Given the description of an element on the screen output the (x, y) to click on. 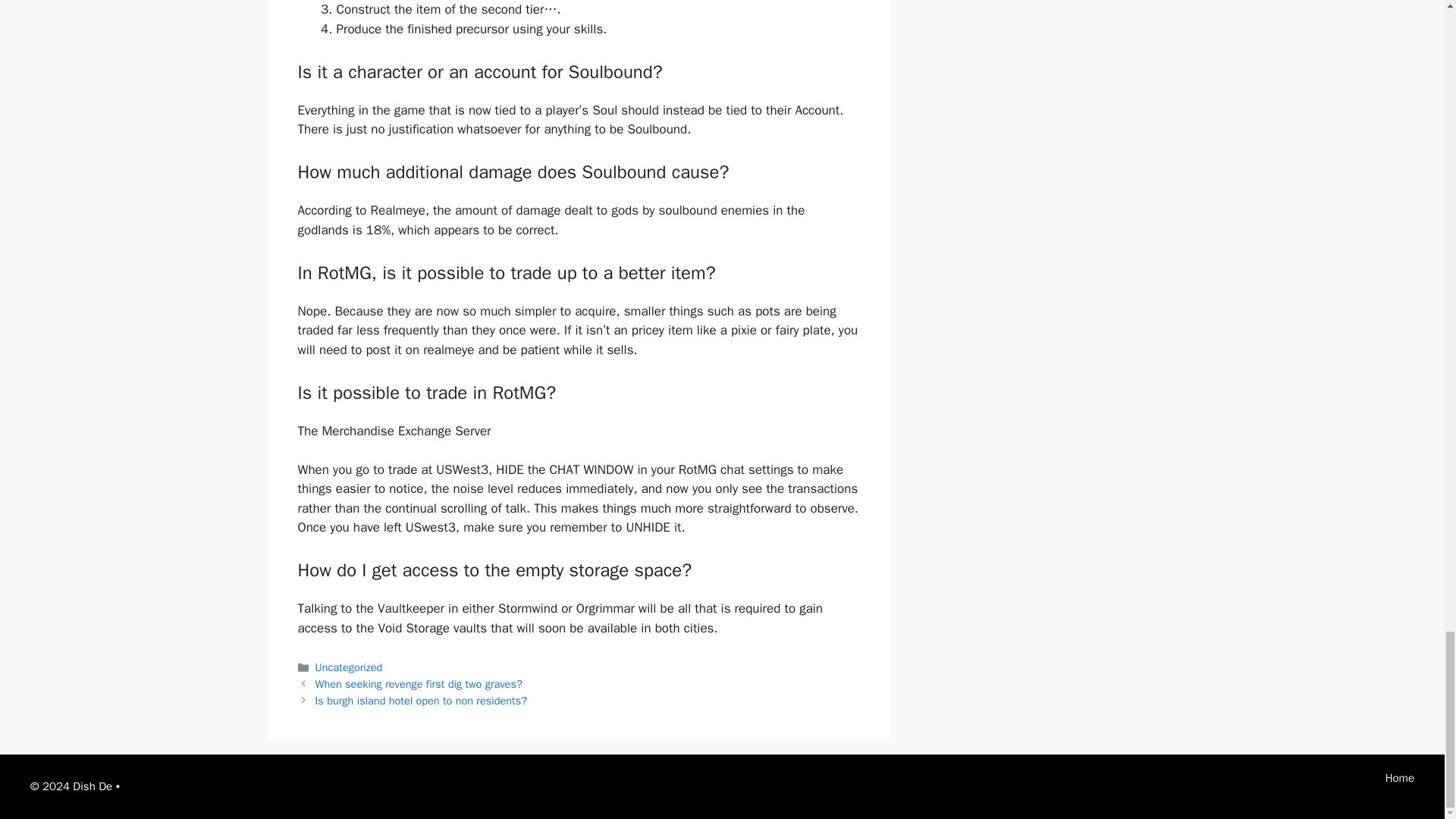
Is burgh island hotel open to non residents? (421, 700)
Next (421, 700)
Previous (418, 684)
Home (1399, 777)
Uncategorized (348, 667)
When seeking revenge first dig two graves? (418, 684)
